Given the description of an element on the screen output the (x, y) to click on. 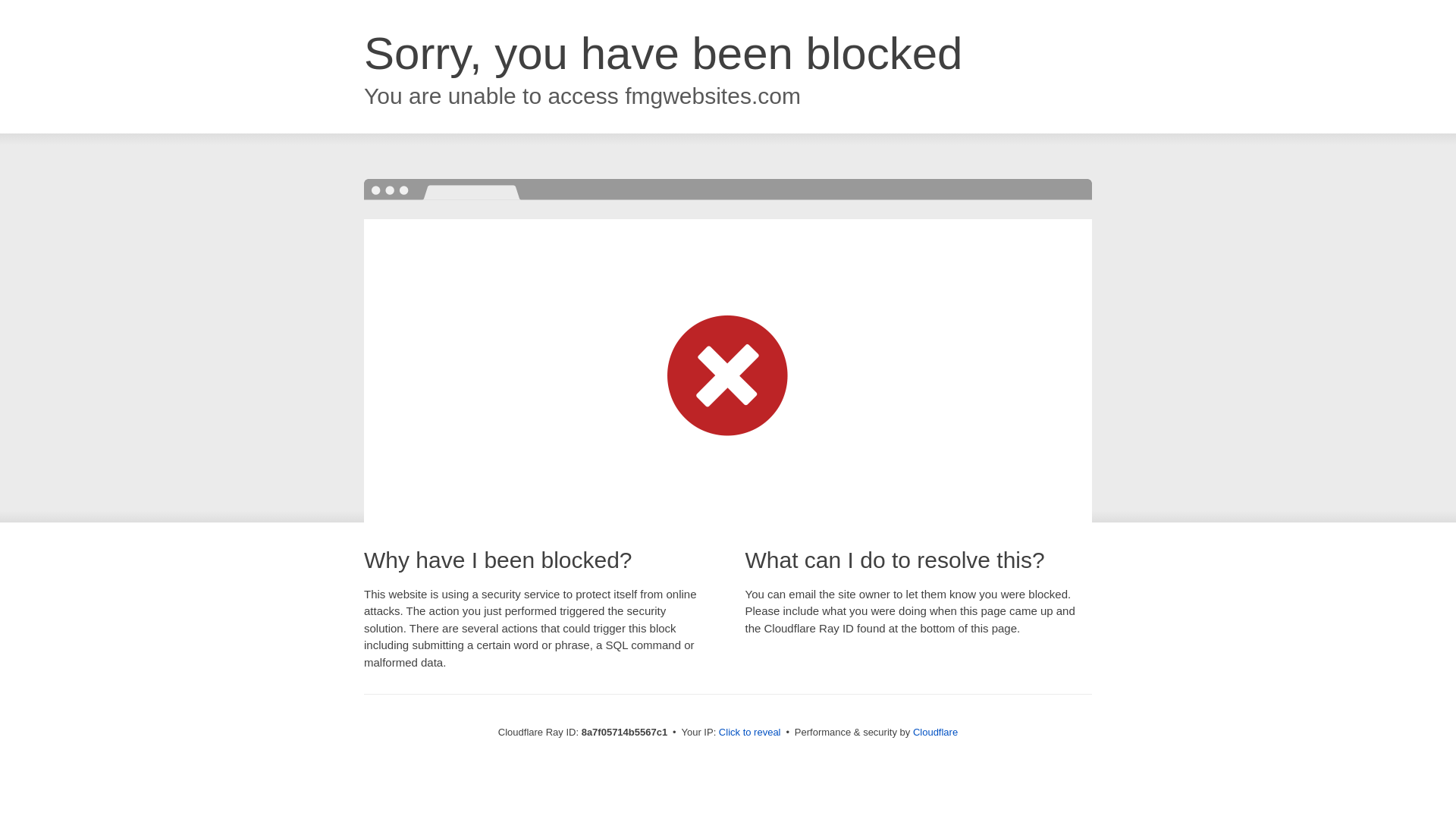
Click to reveal (749, 732)
Cloudflare (935, 731)
